Given the description of an element on the screen output the (x, y) to click on. 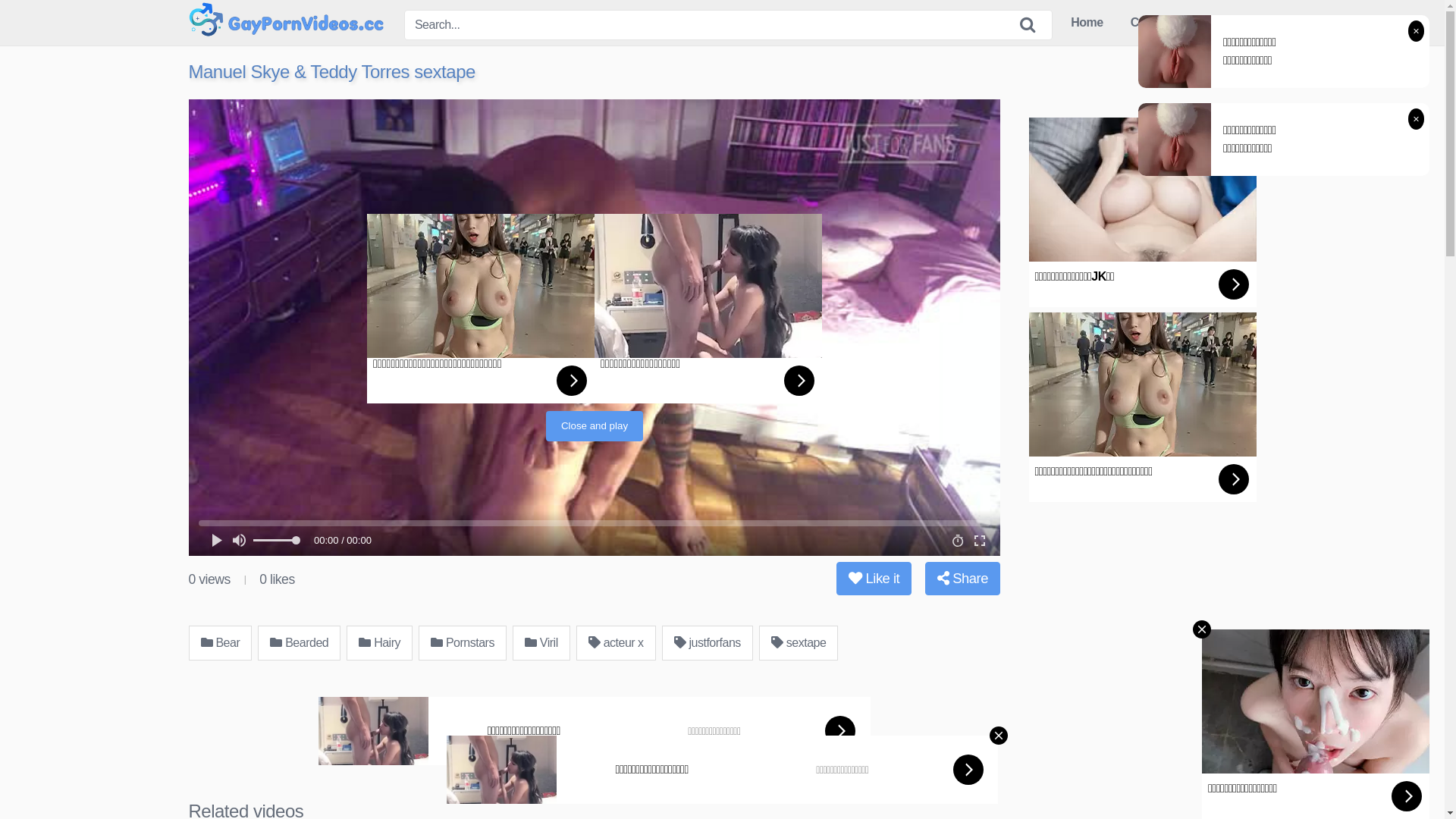
Hairy Element type: text (379, 642)
sextape Element type: text (798, 642)
Home Element type: text (1086, 22)
Tags Element type: text (1228, 22)
Categories Element type: text (1160, 22)
Bear Element type: text (219, 642)
Viril Element type: text (541, 642)
Share Element type: text (962, 578)
Bearded Element type: text (298, 642)
GayPornVideos.cc Element type: hover (286, 22)
acteur x Element type: text (615, 642)
Like it Element type: text (873, 578)
Pornstars Element type: text (462, 642)
justforfans Element type: text (707, 642)
